Given the description of an element on the screen output the (x, y) to click on. 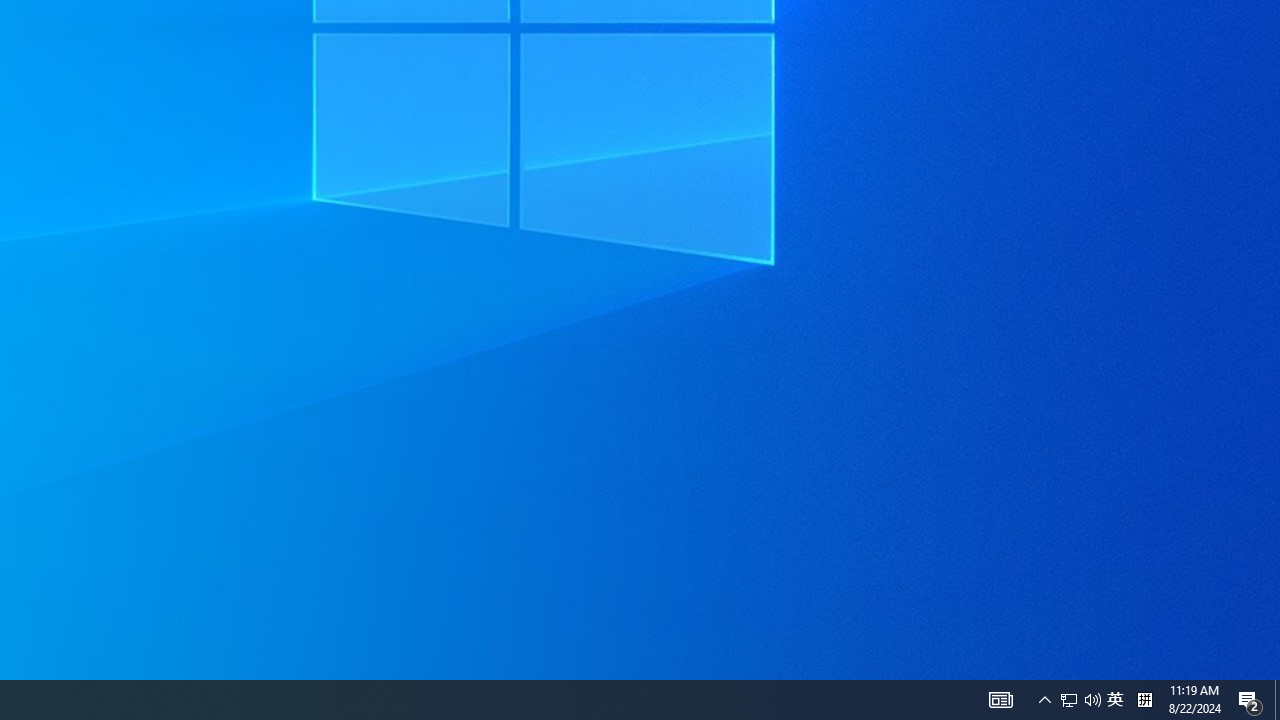
AutomationID: 4105 (1000, 699)
Tray Input Indicator - Chinese (Simplified, China) (1144, 699)
User Promoted Notification Area (1080, 699)
Notification Chevron (1044, 699)
Action Center, 2 new notifications (1069, 699)
Show desktop (1250, 699)
Q2790: 100% (1277, 699)
